Given the description of an element on the screen output the (x, y) to click on. 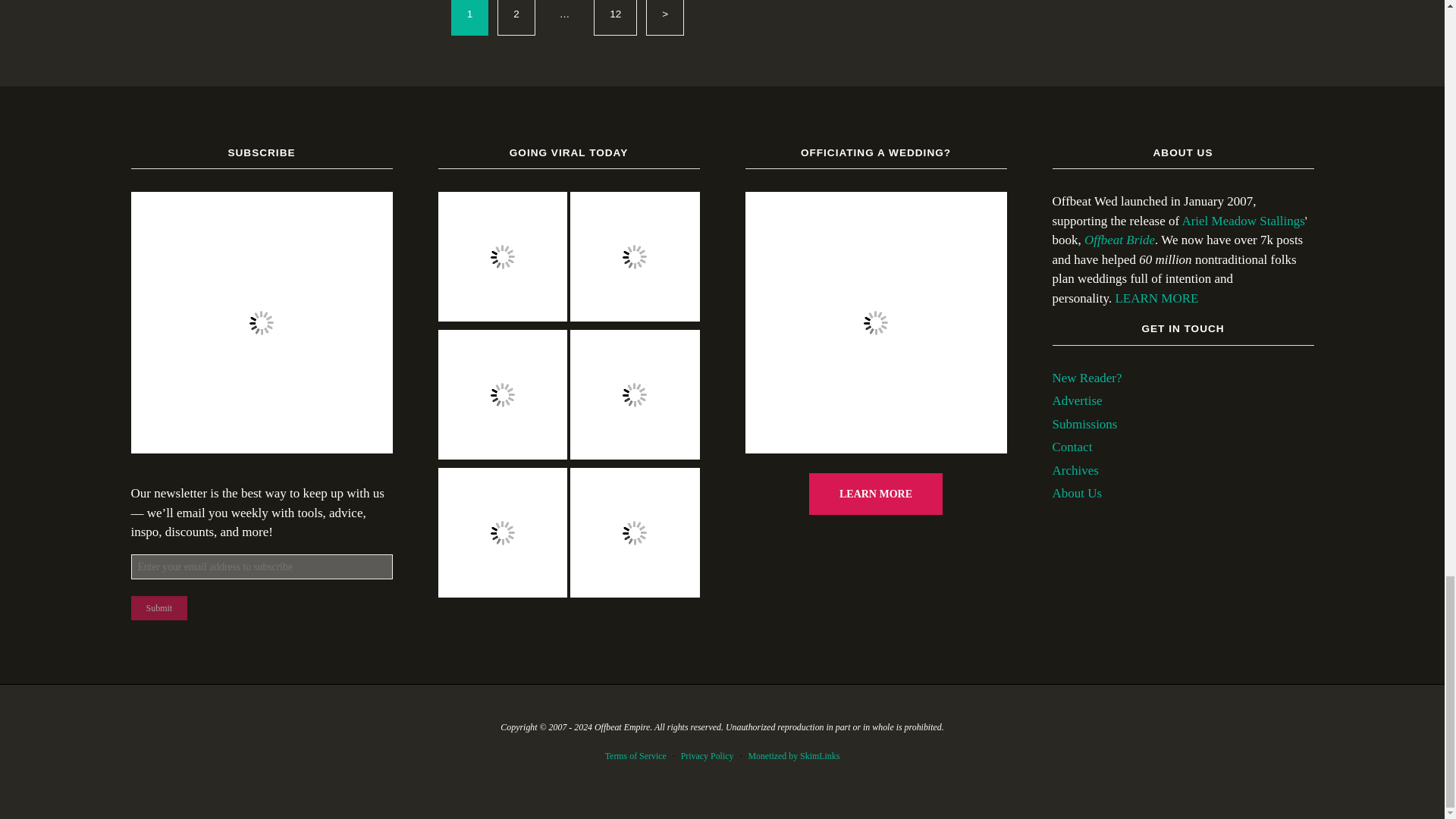
The ultimate DIY tutorial for rag curls (635, 534)
Submit (159, 607)
7 unique wedding welcome bag ideas (502, 534)
